Given the description of an element on the screen output the (x, y) to click on. 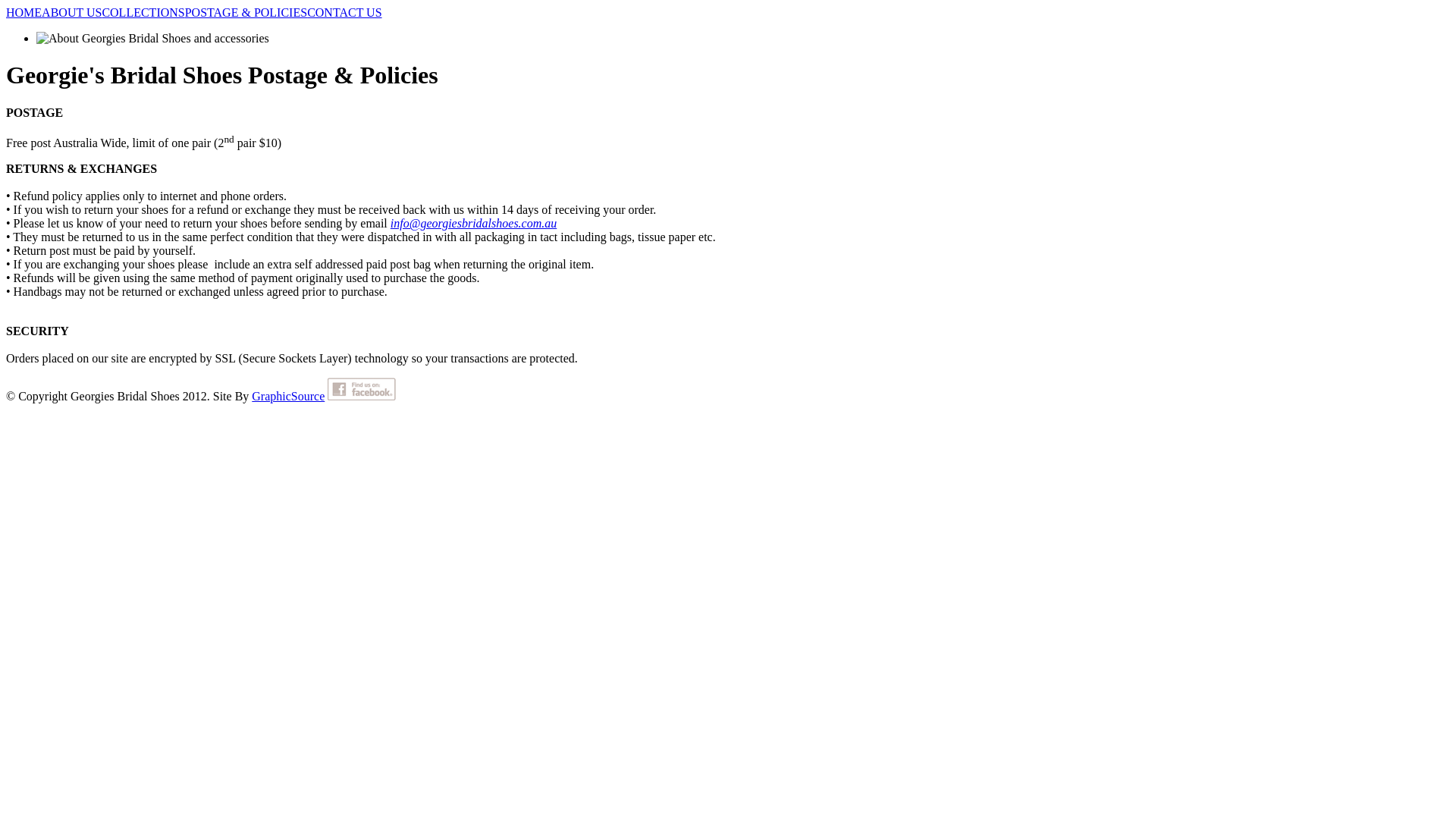
HOME Element type: text (23, 12)
ABOUT US Element type: text (71, 12)
POSTAGE & POLICIES Element type: text (246, 12)
CONTACT US Element type: text (344, 12)
COLLECTIONS Element type: text (142, 12)
GraphicSource Element type: text (287, 395)
info@georgiesbridalshoes.com.au Element type: text (473, 222)
